Given the description of an element on the screen output the (x, y) to click on. 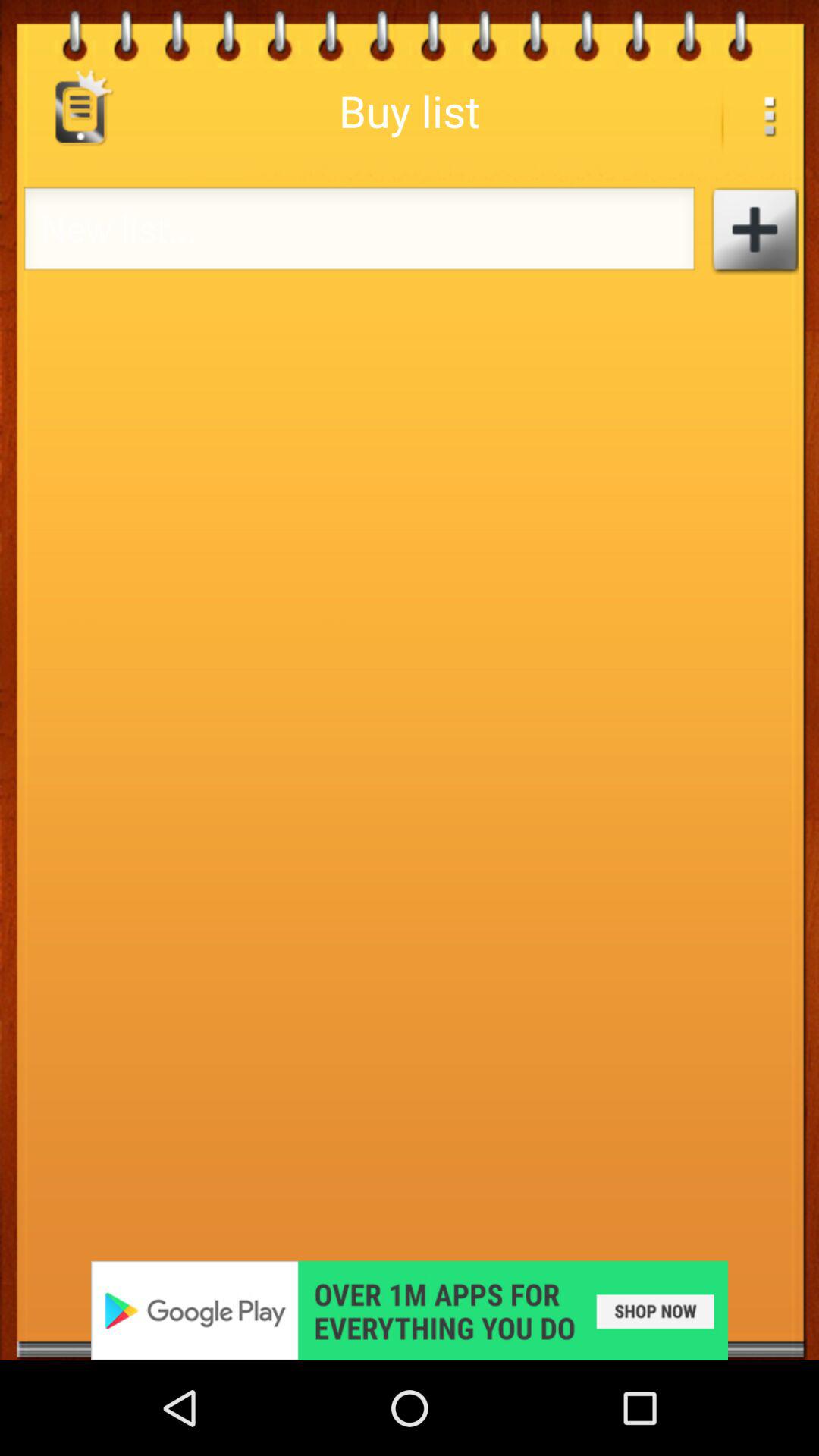
advertisement link (409, 1310)
